Given the description of an element on the screen output the (x, y) to click on. 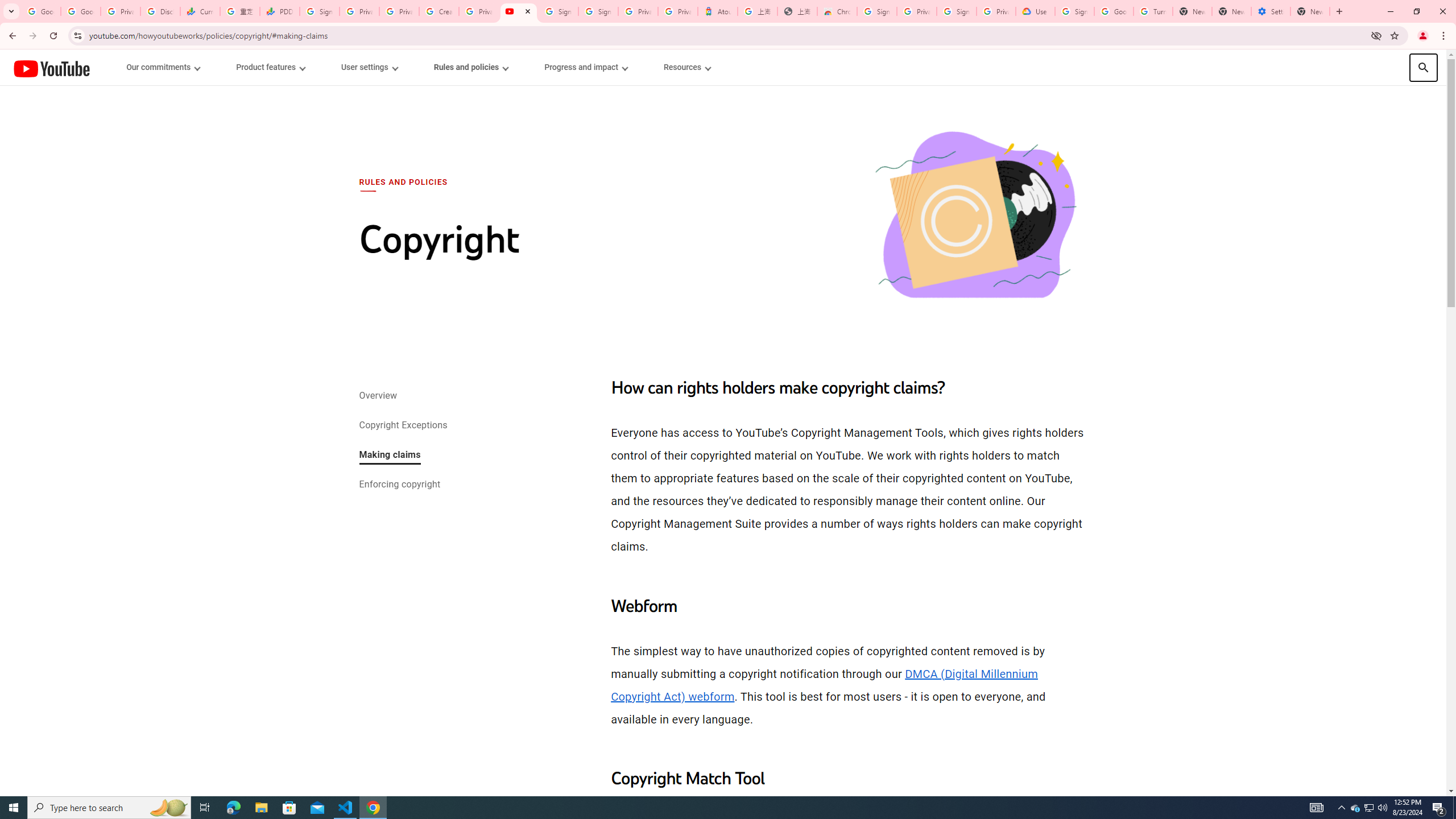
Chrome Web Store - Color themes by Chrome (836, 11)
Enforcing copyright (399, 484)
Atour Hotel - Google hotels (717, 11)
Copyright Exceptions (402, 425)
Sign in - Google Accounts (319, 11)
Privacy Checkup (398, 11)
Turn cookies on or off - Computer - Google Account Help (1152, 11)
How YouTube Works (51, 66)
Our commitments menupopup (163, 67)
